Given the description of an element on the screen output the (x, y) to click on. 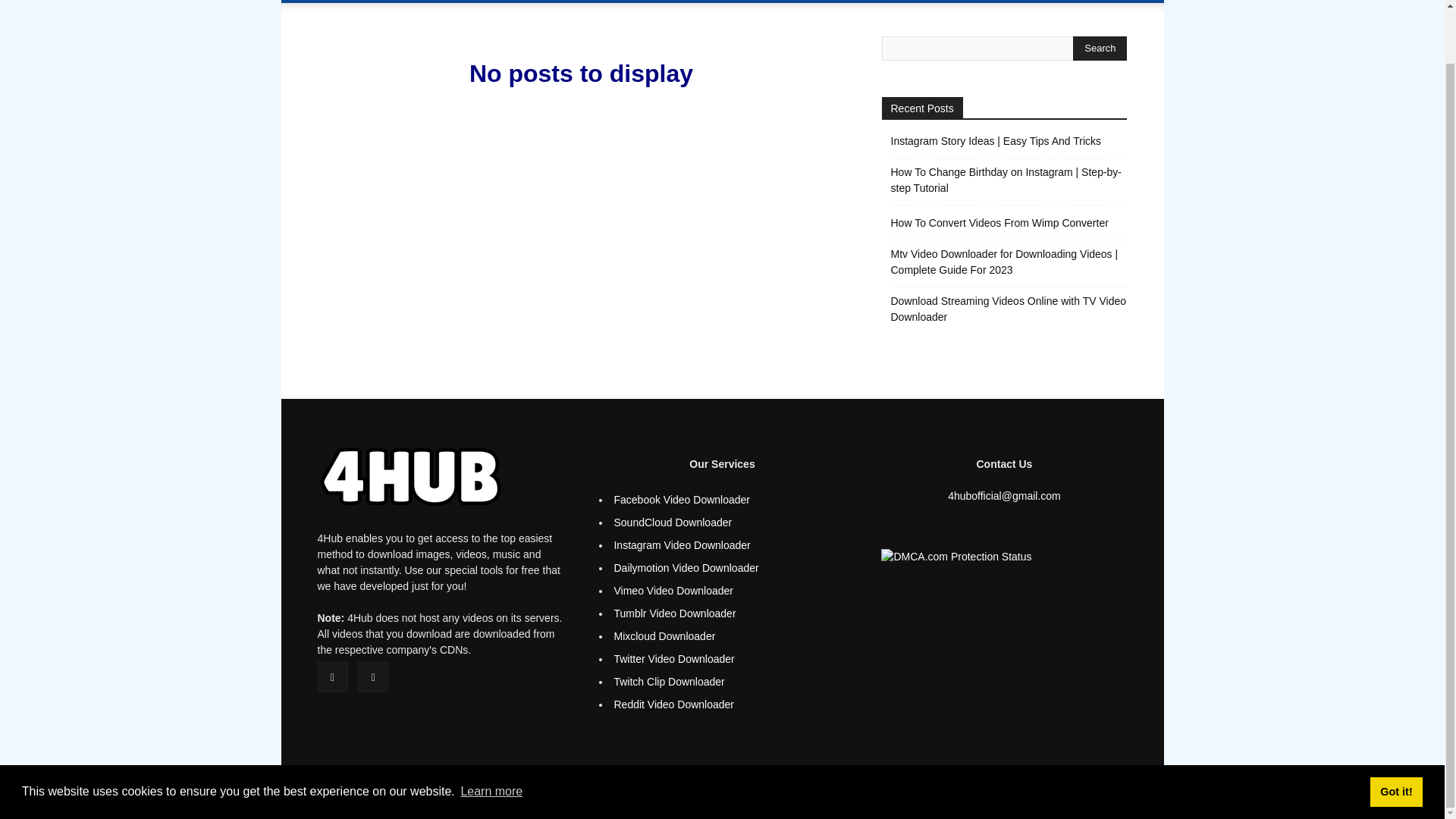
DMCA.com Protection Status (955, 556)
4Hub (410, 477)
Got it! (1396, 734)
Facebook (332, 676)
HOME (485, 1)
Learn more (491, 733)
Search (1099, 48)
Twitter (373, 676)
4Hub (387, 1)
